Given the description of an element on the screen output the (x, y) to click on. 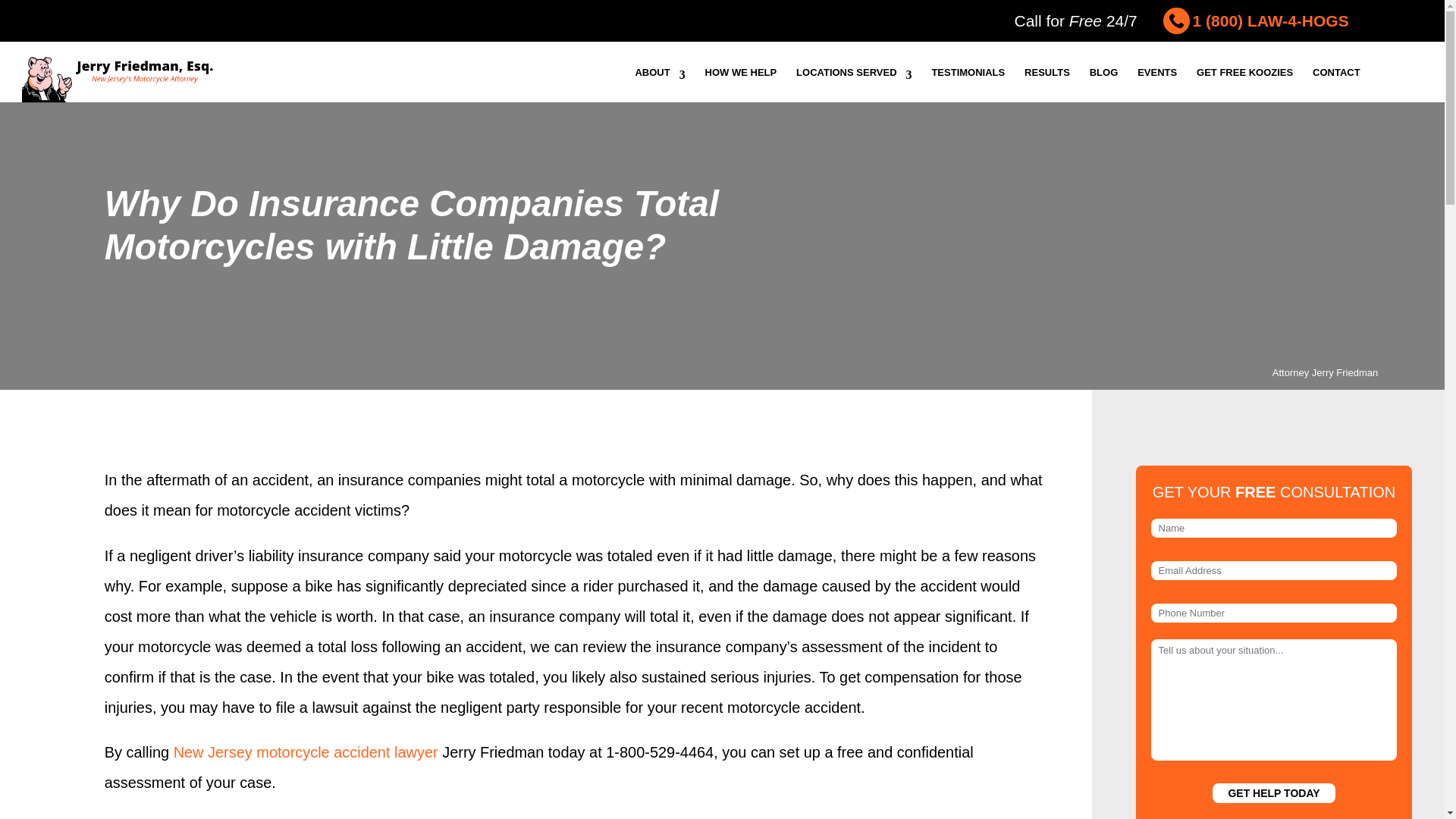
Get Help Today (1273, 792)
HOW WE HELP (740, 79)
LOCATIONS SERVED (853, 79)
ABOUT (659, 79)
